Given the description of an element on the screen output the (x, y) to click on. 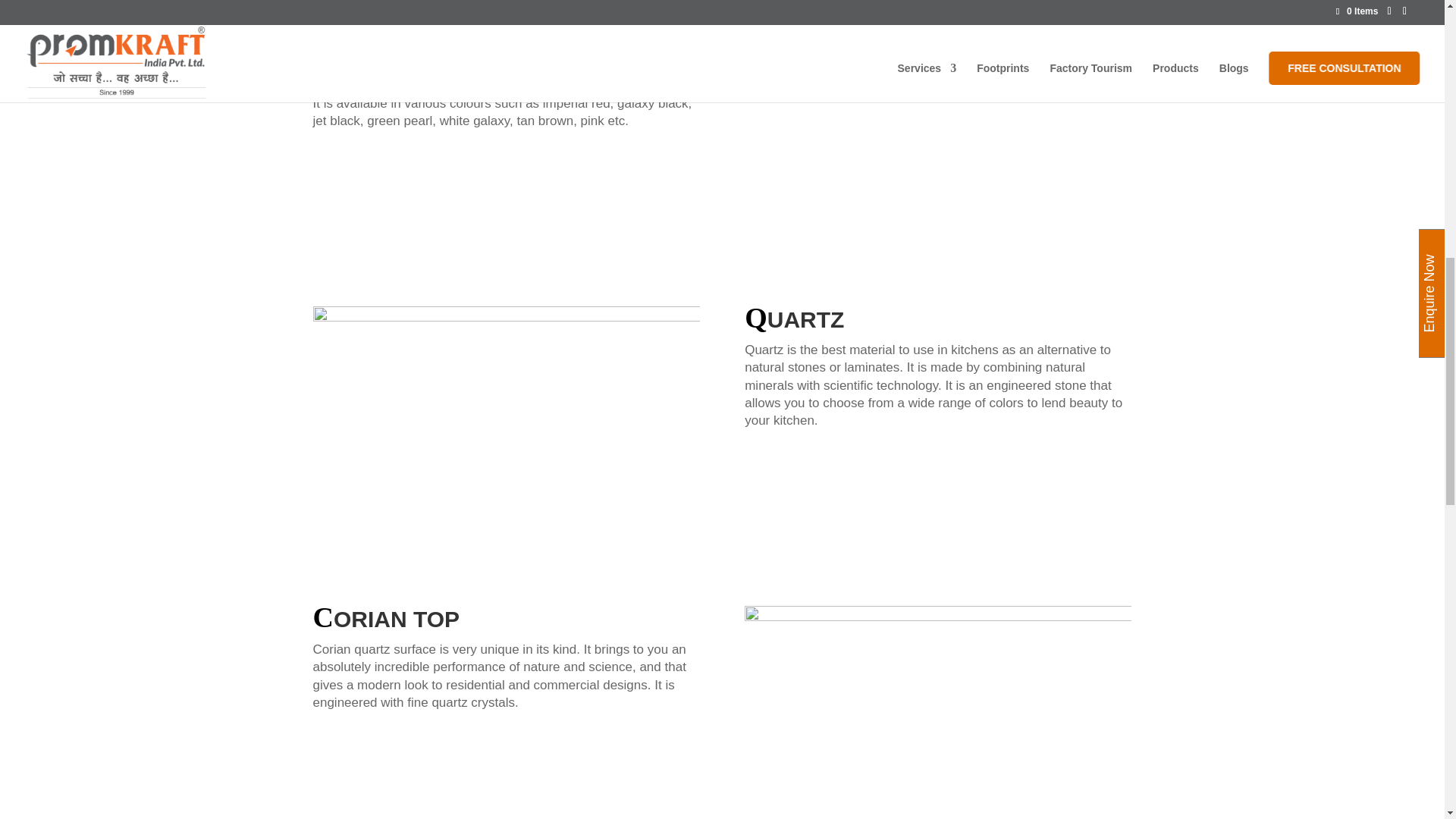
Mask Group 24 (937, 712)
Mask Group 25 (937, 115)
Mask Group 21 (505, 415)
